Given the description of an element on the screen output the (x, y) to click on. 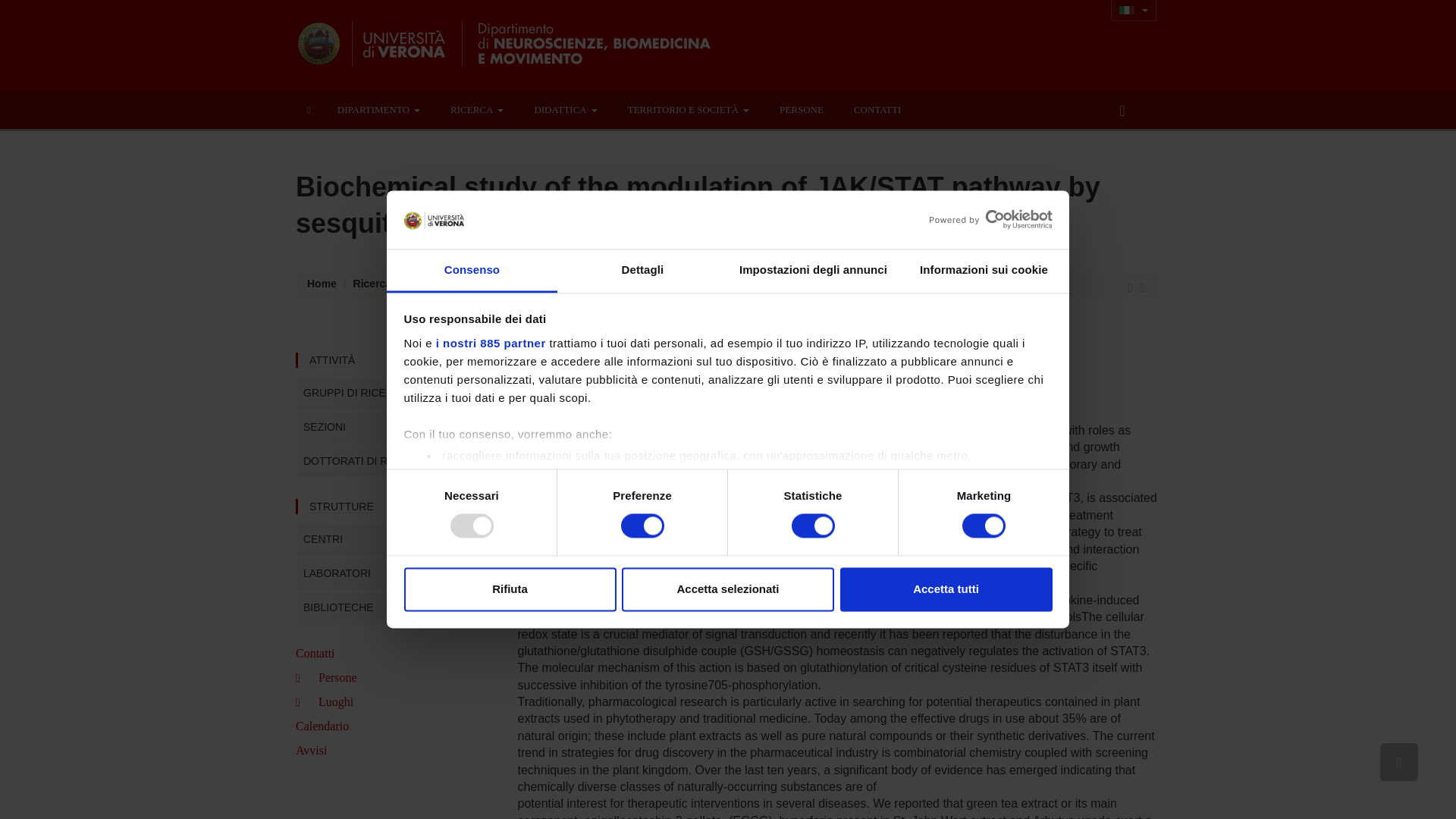
Impostazioni degli annunci (813, 270)
Consenso (472, 270)
Dettagli (642, 270)
i nostri 885 partner (490, 342)
Informazioni sui cookie (983, 270)
sezione dettagli (946, 512)
